Given the description of an element on the screen output the (x, y) to click on. 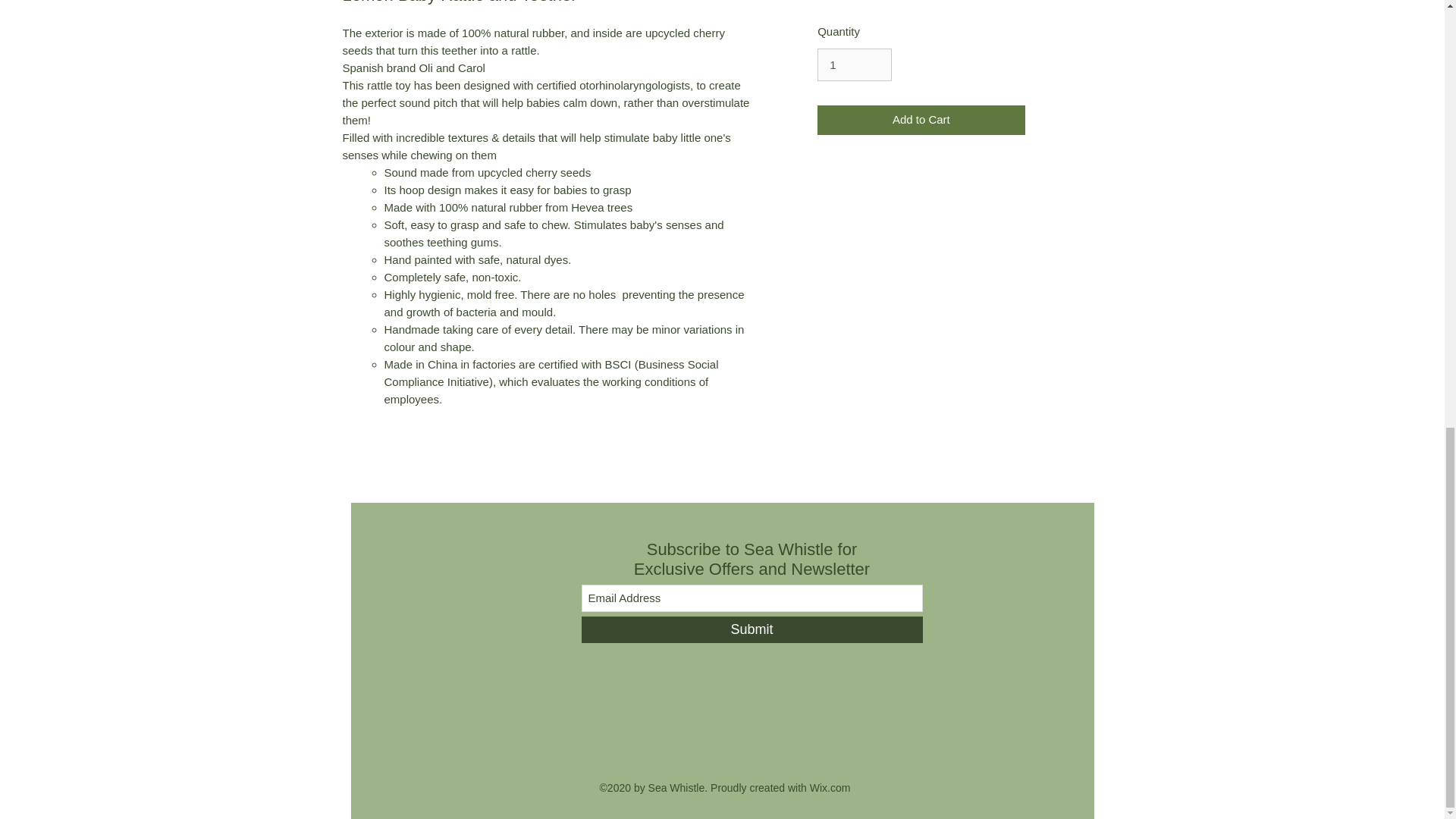
1 (853, 64)
Submit (750, 629)
Add to Cart (920, 120)
